Given the description of an element on the screen output the (x, y) to click on. 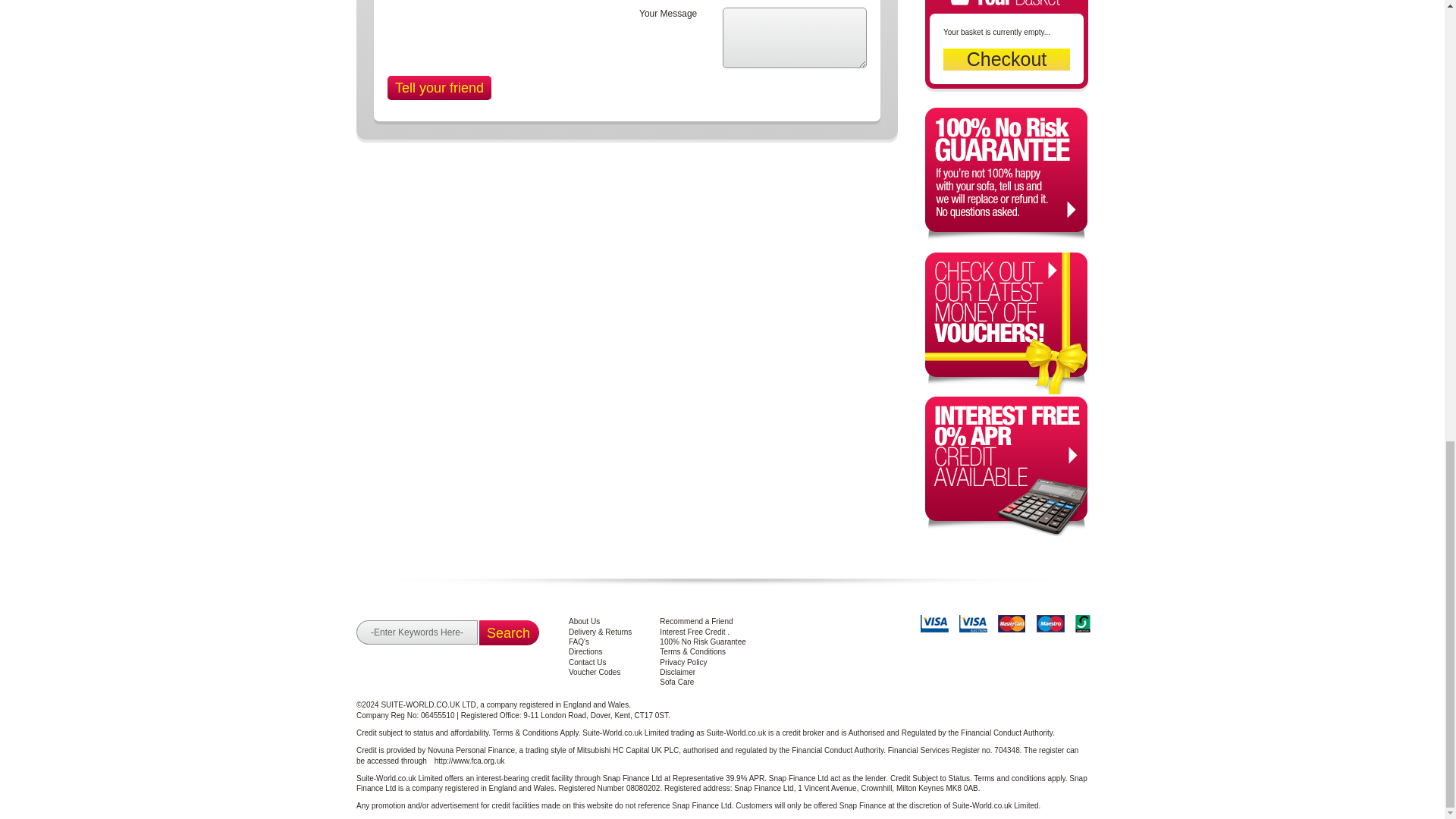
-Enter Keywords Here- (416, 631)
